Given the description of an element on the screen output the (x, y) to click on. 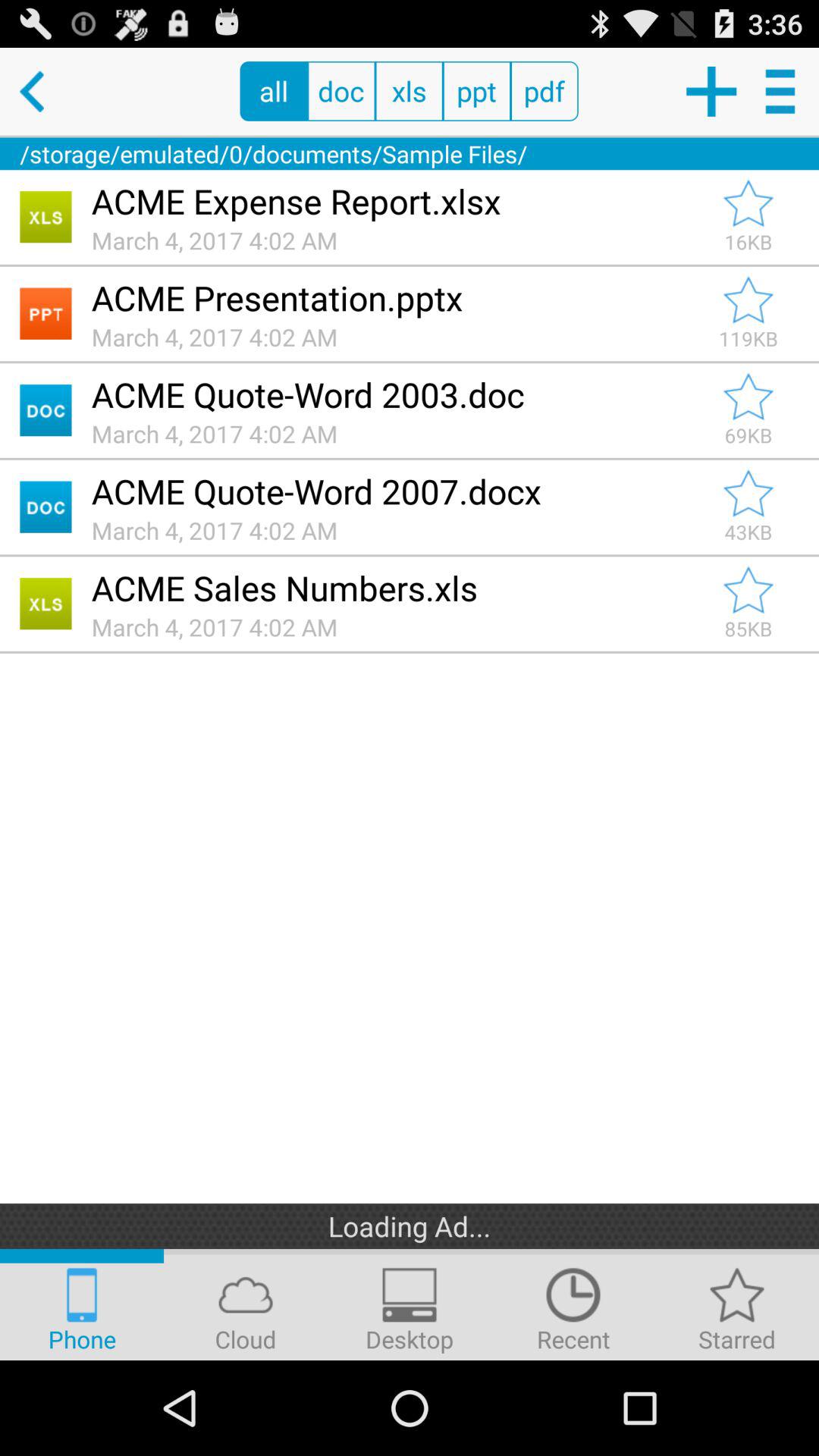
press for menu option (782, 91)
